Given the description of an element on the screen output the (x, y) to click on. 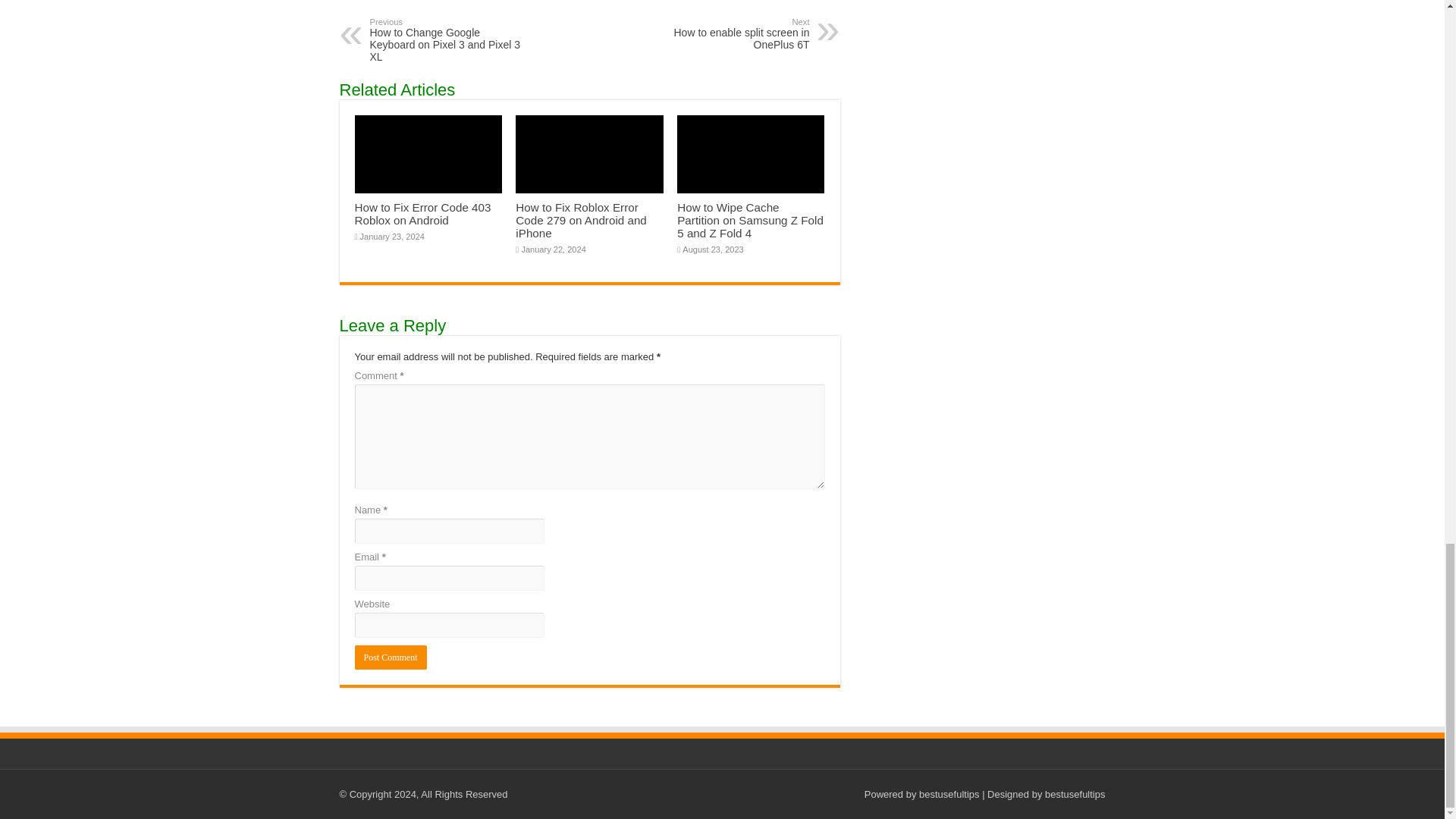
How to Fix Roblox Error Code 279 on Android and iPhone (580, 219)
Post Comment (390, 657)
How to Fix Error Code 403 Roblox on Android (423, 213)
